Given the description of an element on the screen output the (x, y) to click on. 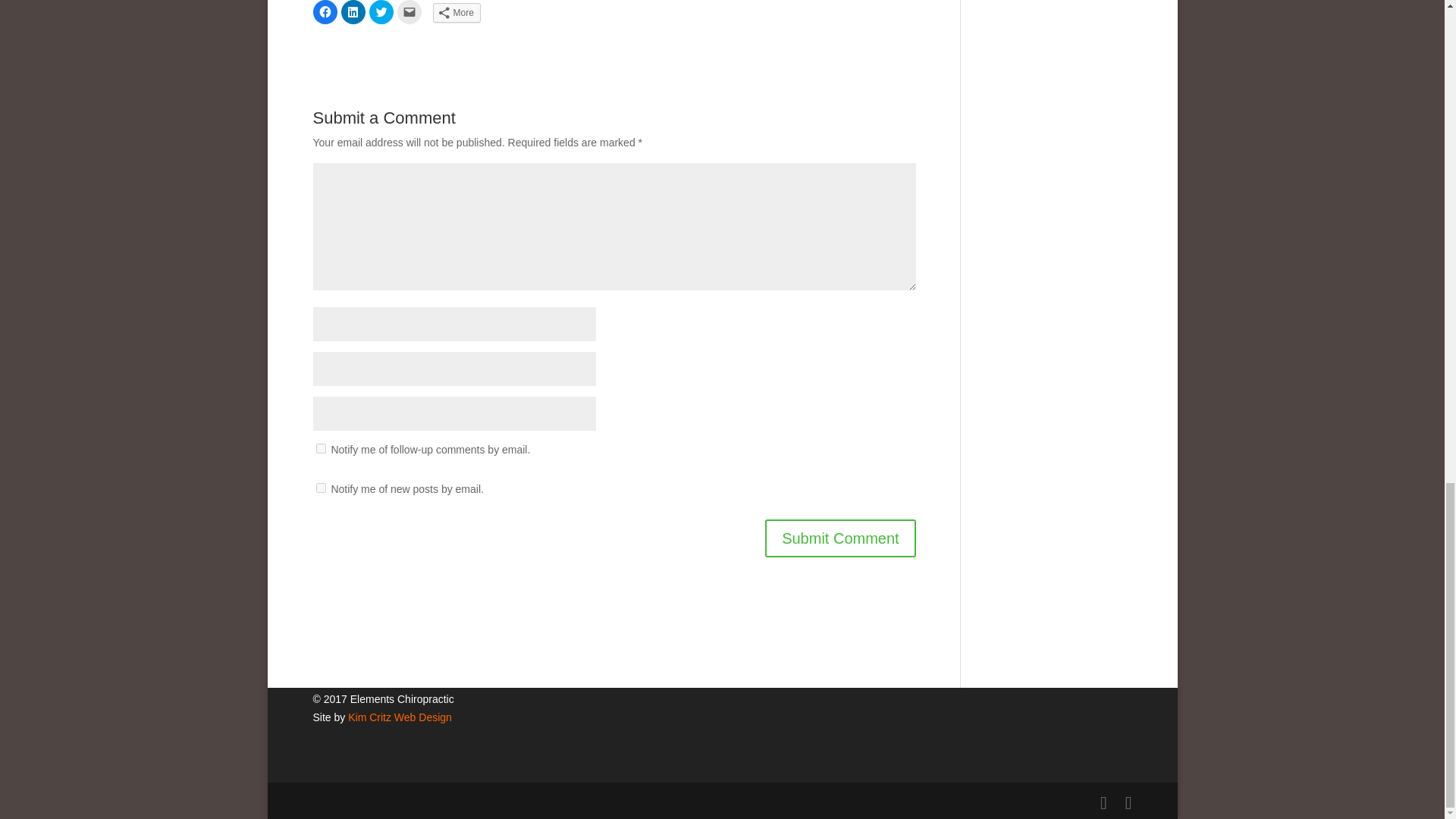
Submit Comment (840, 538)
Click to share on LinkedIn (352, 12)
Submit Comment (840, 538)
Click to email a link to a friend (409, 12)
Kim Critz Web Design (399, 717)
More (456, 12)
Click to share on Twitter (380, 12)
subscribe (319, 448)
Click to share on Facebook (324, 12)
subscribe (319, 488)
